Given the description of an element on the screen output the (x, y) to click on. 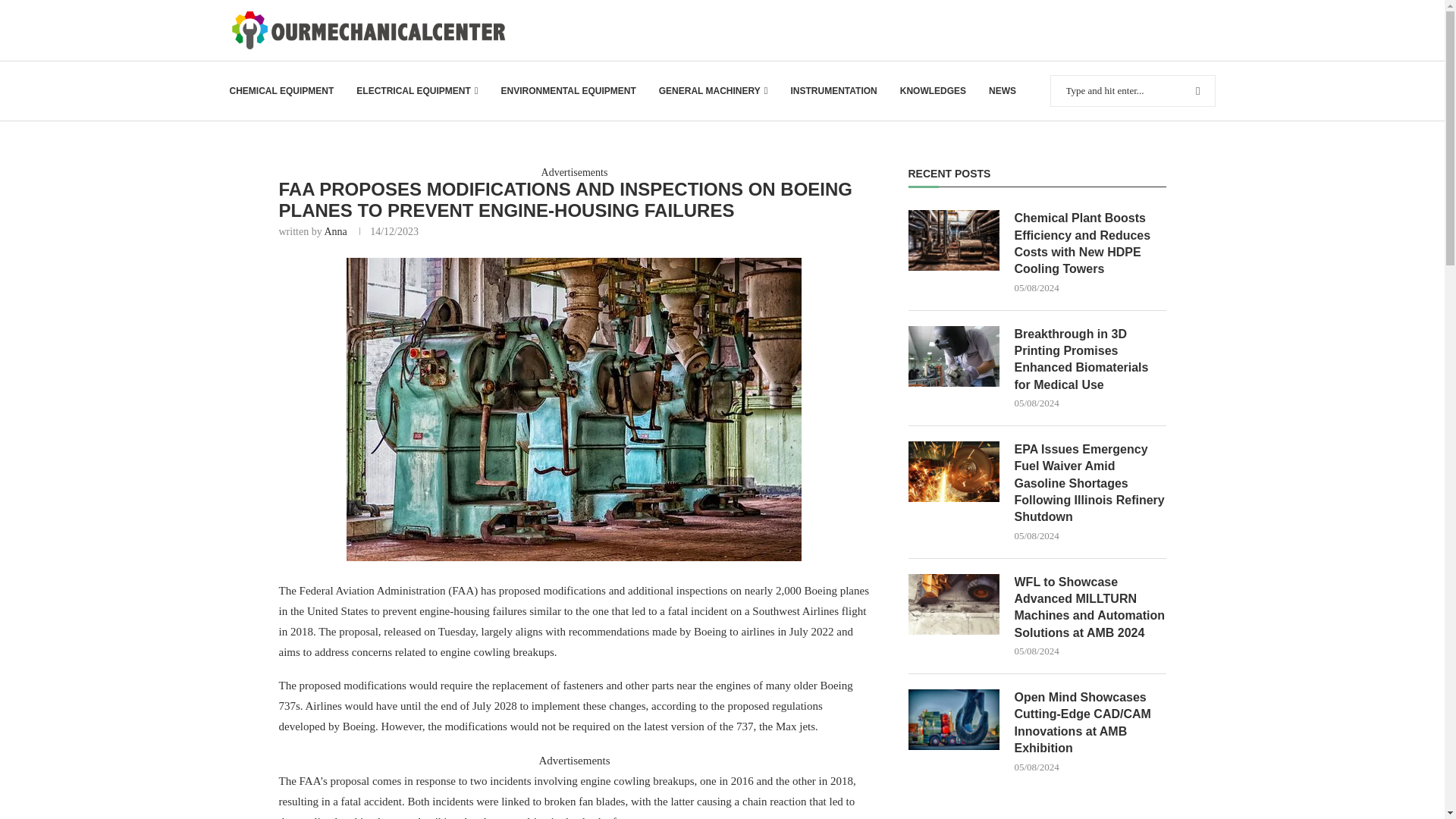
INSTRUMENTATION (833, 90)
CHEMICAL EQUIPMENT (280, 90)
ELECTRICAL EQUIPMENT (416, 90)
GENERAL MACHINERY (713, 90)
ENVIRONMENTAL EQUIPMENT (567, 90)
